Given the description of an element on the screen output the (x, y) to click on. 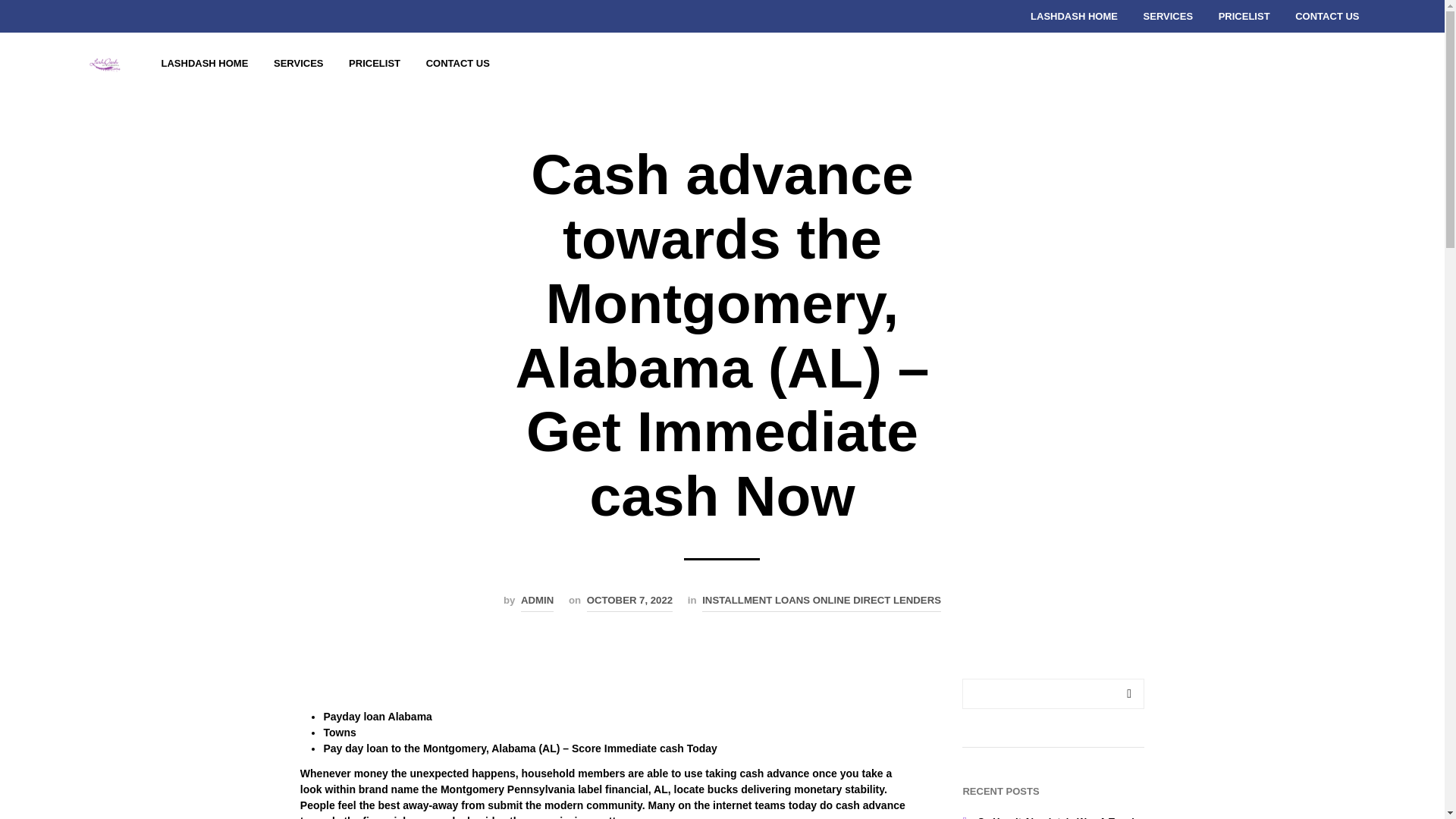
PRICELIST (374, 63)
LASHDASH HOME (204, 63)
SERVICES (298, 63)
PRICELIST (1244, 16)
OCTOBER 7, 2022 (629, 601)
Search (1128, 693)
CONTACT US (457, 63)
View all posts by admin (537, 601)
SERVICES (1168, 16)
Search (1128, 693)
INSTALLMENT LOANS ONLINE DIRECT LENDERS (820, 601)
ADMIN (537, 601)
Search (1128, 693)
CONTACT US (1327, 16)
